Given the description of an element on the screen output the (x, y) to click on. 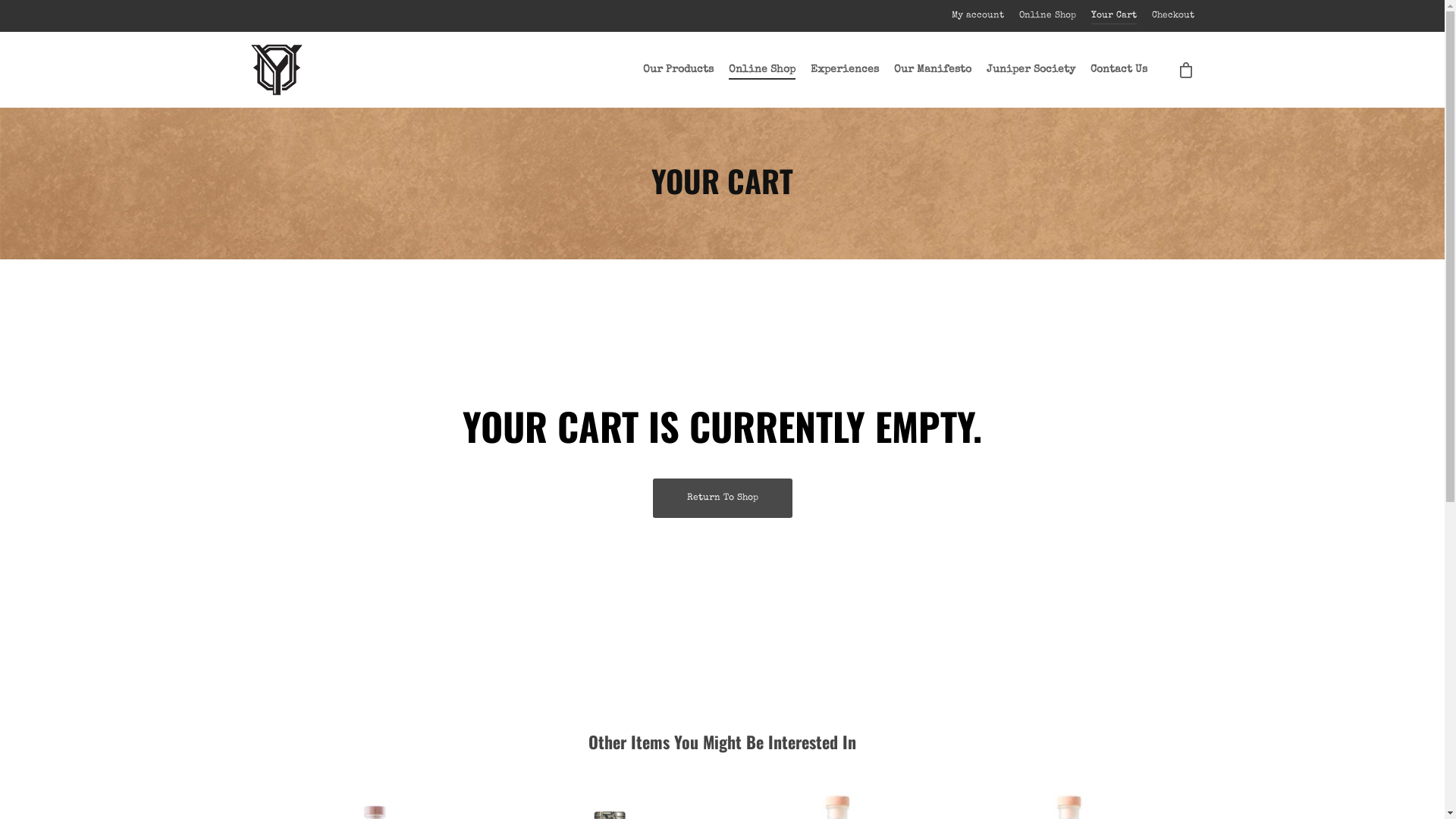
Our Manifesto Element type: text (932, 69)
My account Element type: text (977, 15)
Contact Us Element type: text (1118, 69)
Return To Shop Element type: text (721, 497)
Your Cart Element type: text (1113, 15)
Our Products Element type: text (678, 69)
Online Shop Element type: text (761, 69)
Experiences Element type: text (844, 69)
Juniper Society Element type: text (1030, 69)
Online Shop Element type: text (1047, 15)
Checkout Element type: text (1172, 15)
